Given the description of an element on the screen output the (x, y) to click on. 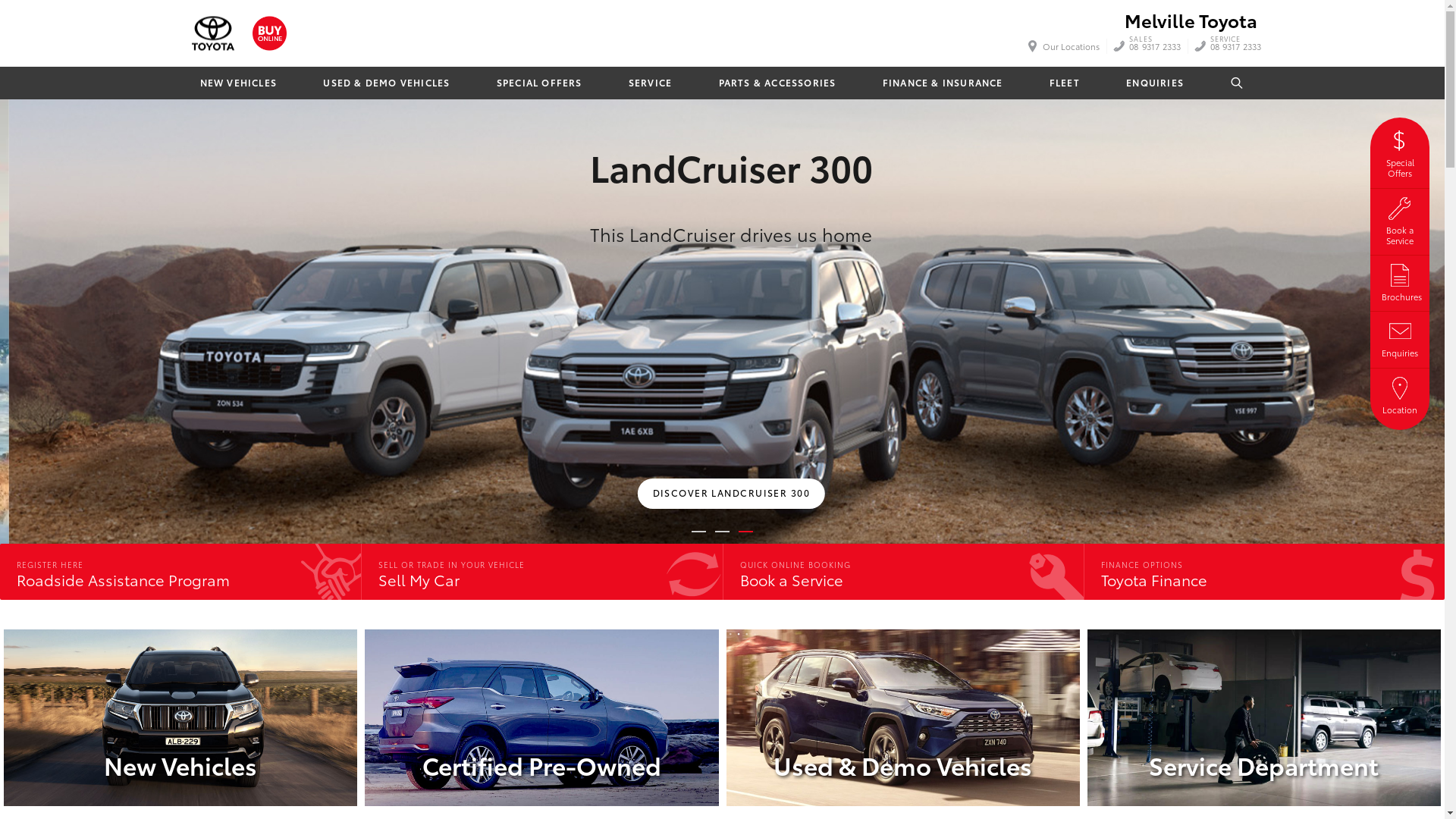
Location Element type: text (1399, 393)
New Vehicles Element type: text (180, 717)
Service Department Element type: text (1263, 717)
FINANCE OPTIONS
Toyota Finance Element type: text (1263, 571)
Book a Service Element type: text (1399, 219)
ENQUIRIES Element type: text (1154, 82)
USED & DEMO VEHICLES Element type: text (385, 82)
Brochures Element type: text (1399, 280)
NEW VEHICLES Element type: text (237, 82)
QUICK ONLINE BOOKING
Book a Service Element type: text (901, 571)
Our Locations Element type: text (1064, 45)
Used & Demo Vehicles Element type: text (902, 717)
REGISTER YOUR INTEREST Element type: text (190, 404)
SALES
08 9317 2333 Element type: text (1154, 45)
SERVICE
08 9317 2333 Element type: text (1235, 45)
SEARCH Element type: text (1236, 82)
SERVICE Element type: text (650, 82)
FLEET Element type: text (1064, 82)
Melville Toyota Element type: text (1189, 20)
Special Offers Element type: text (1399, 151)
Melville Toyota Element type: hover (212, 33)
Enquiries Element type: text (1399, 336)
SPECIAL OFFERS Element type: text (539, 82)
Buy Online Element type: hover (268, 33)
SELL OR TRADE IN YOUR VEHICLE
Sell My Car Element type: text (540, 571)
PARTS & ACCESSORIES Element type: text (776, 82)
Certified Pre-Owned Element type: text (541, 717)
FINANCE & INSURANCE Element type: text (942, 82)
REGISTER HERE
Roadside Assistance Program Element type: text (180, 571)
